Given the description of an element on the screen output the (x, y) to click on. 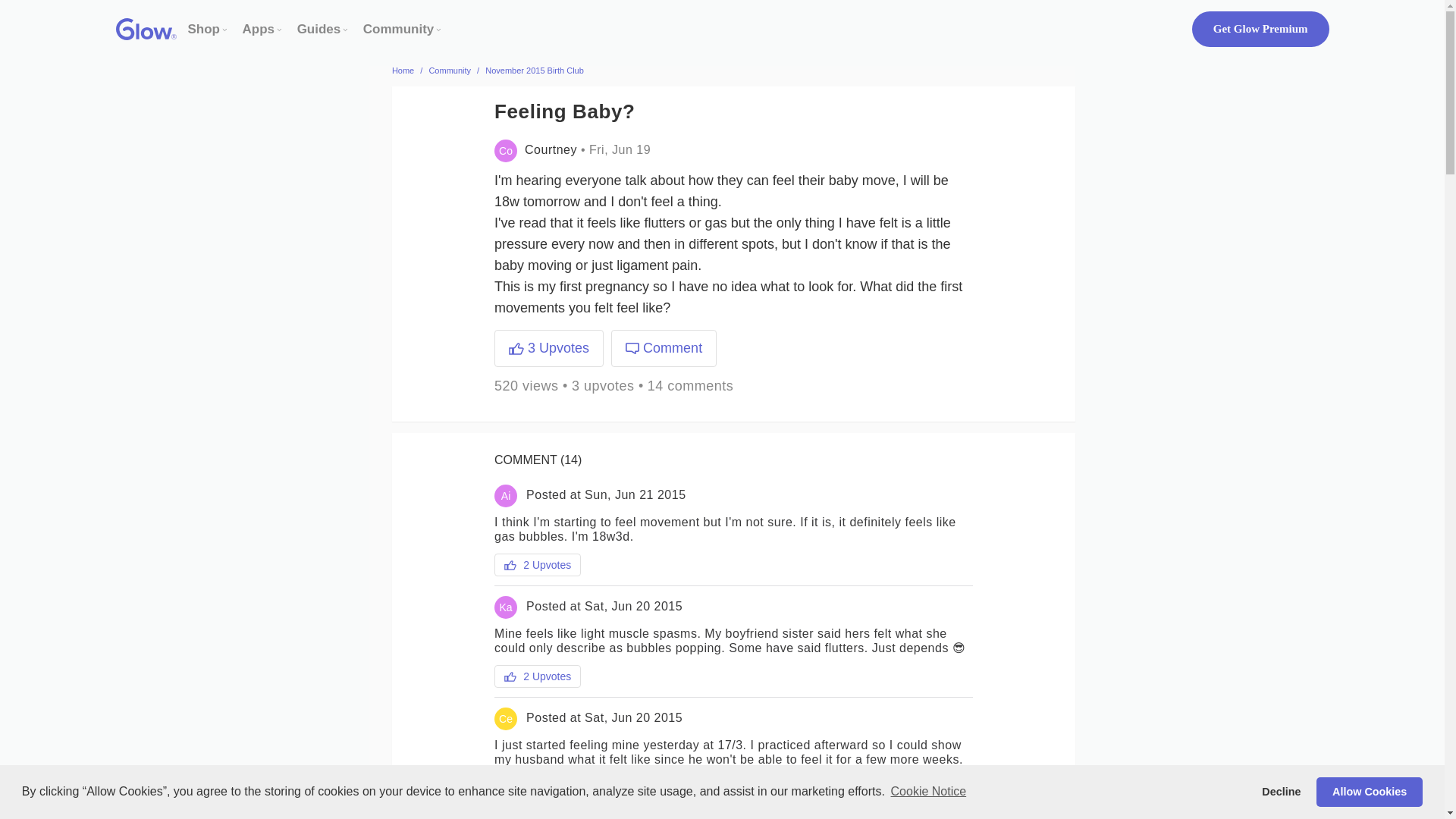
Glow Shop (204, 28)
Apps (259, 28)
Cookie Notice (928, 791)
Allow Cookies (1369, 791)
Glow Community (397, 28)
Shop (204, 28)
Decline (1281, 791)
Guides (318, 28)
